Given the description of an element on the screen output the (x, y) to click on. 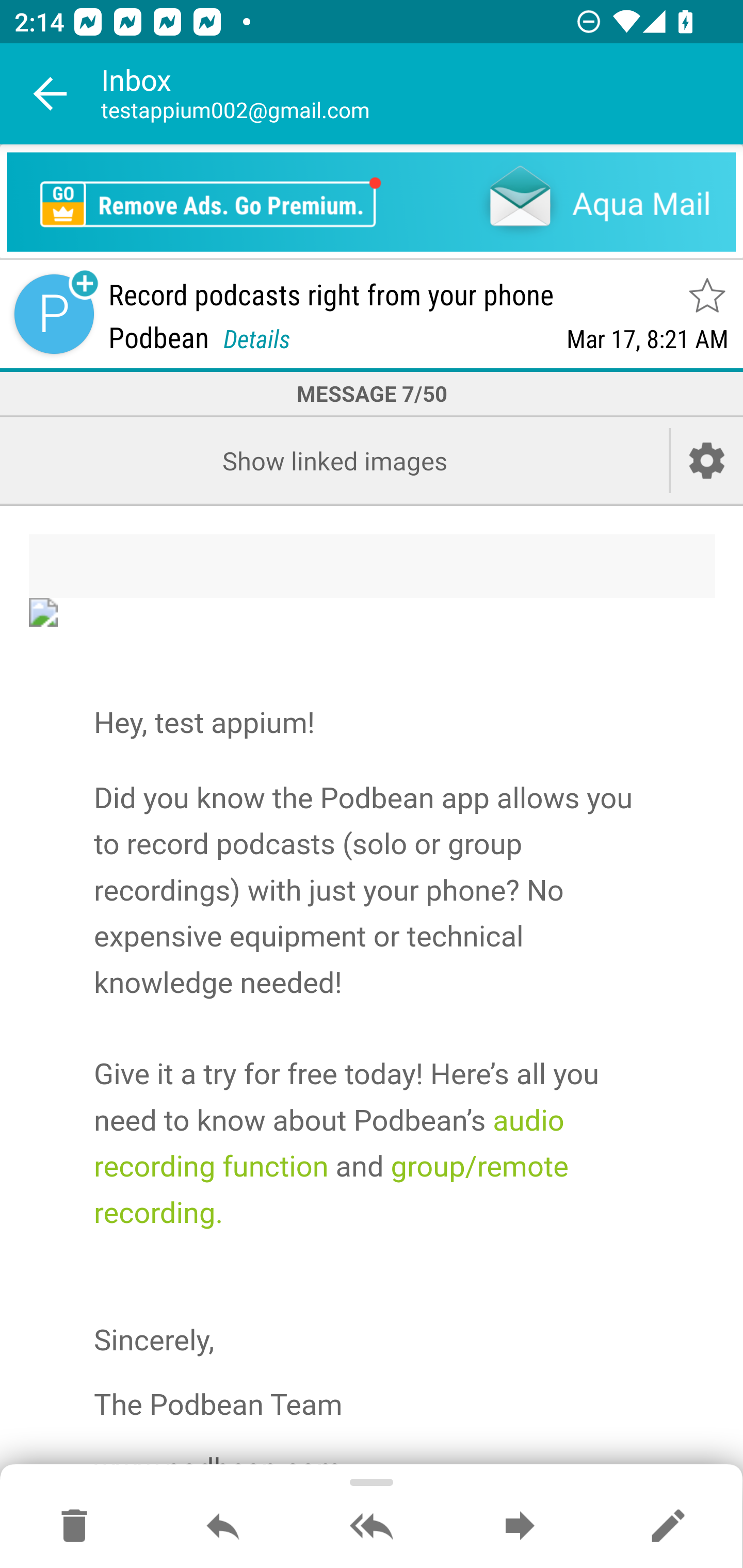
Navigate up (50, 93)
Inbox testappium002@gmail.com (422, 93)
Sender contact button (53, 314)
Show linked images (334, 460)
Account setup (706, 460)
data: (372, 611)
audio recording function (328, 1142)
group/remote recording. (330, 1188)
Move to Deleted (74, 1527)
Reply (222, 1527)
Reply all (371, 1527)
Forward (519, 1527)
Reply as new (667, 1527)
